Given the description of an element on the screen output the (x, y) to click on. 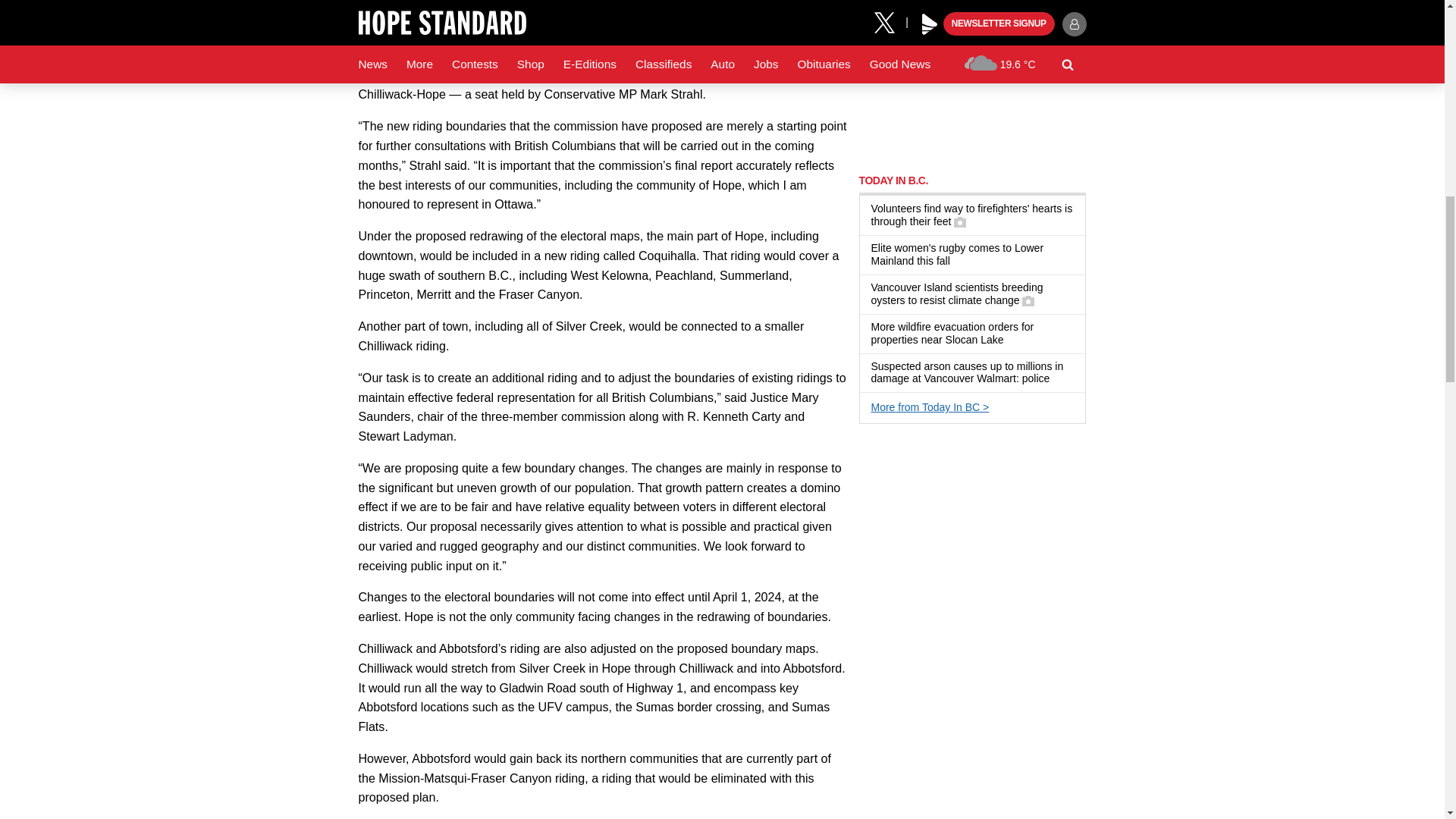
Has a gallery (959, 222)
Has a gallery (1027, 300)
